Given the description of an element on the screen output the (x, y) to click on. 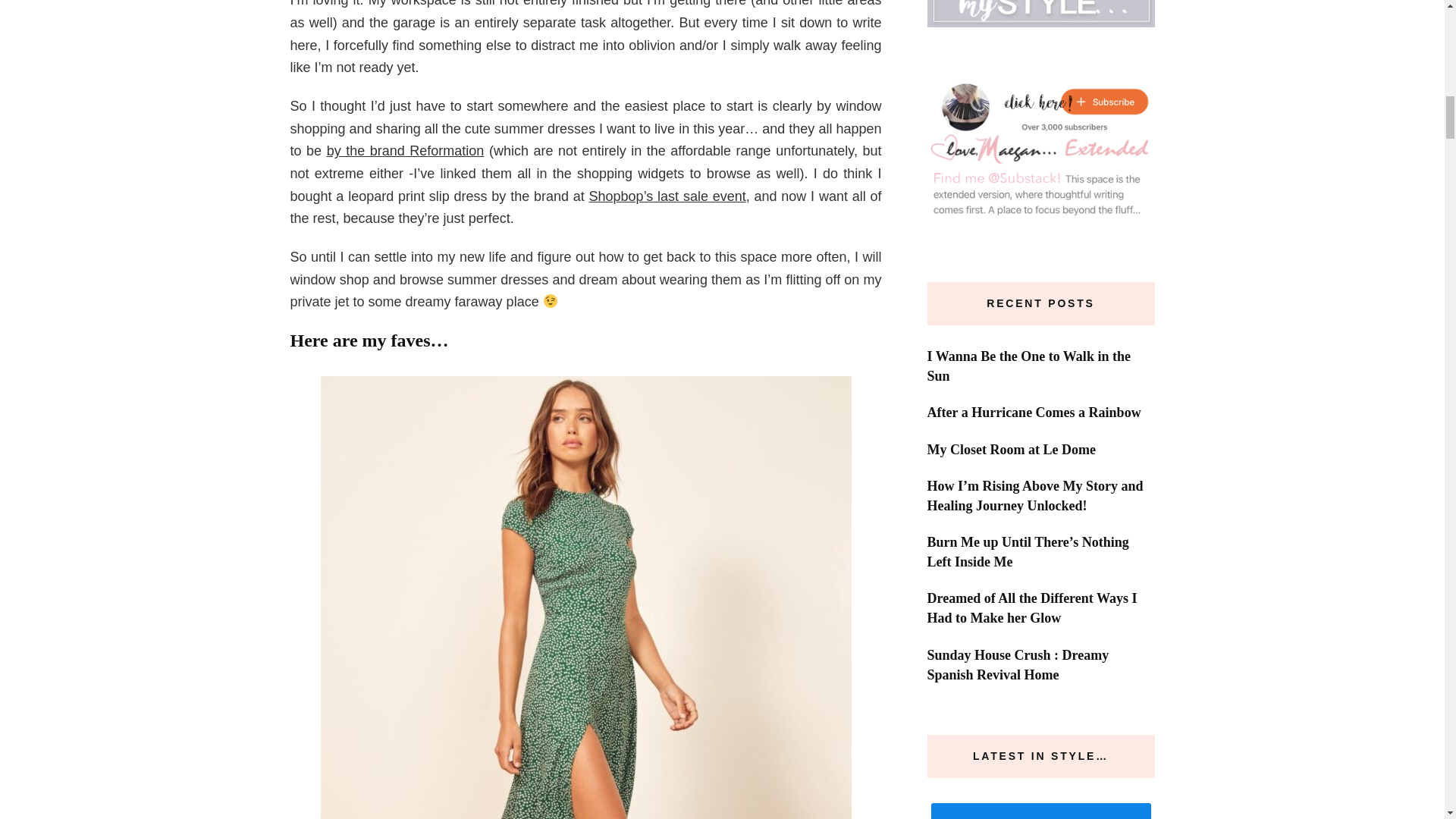
by the brand Reformation (405, 150)
